Given the description of an element on the screen output the (x, y) to click on. 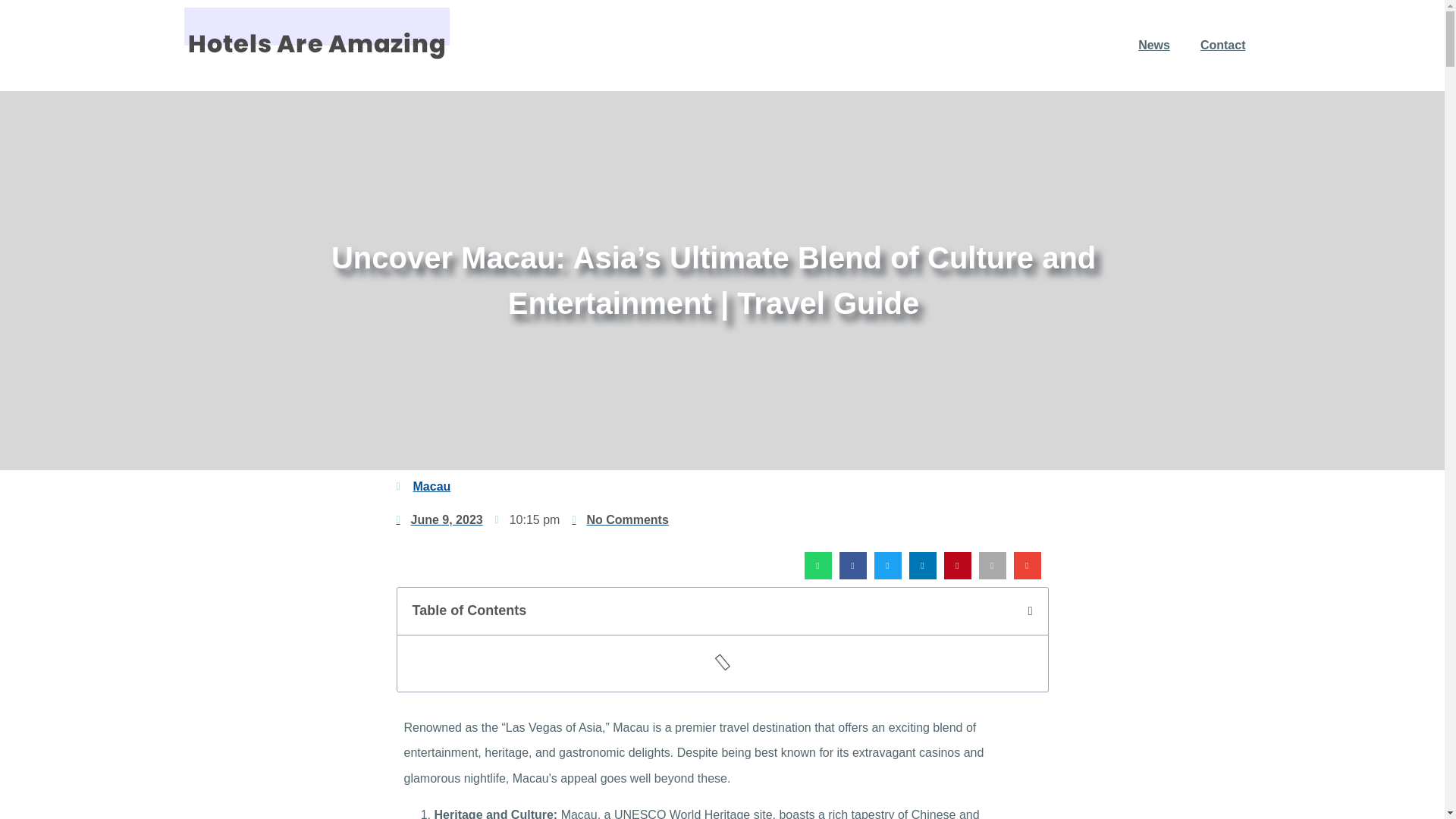
Macau (430, 486)
News (1153, 45)
June 9, 2023 (438, 520)
Contact (1222, 45)
No Comments (620, 520)
